Given the description of an element on the screen output the (x, y) to click on. 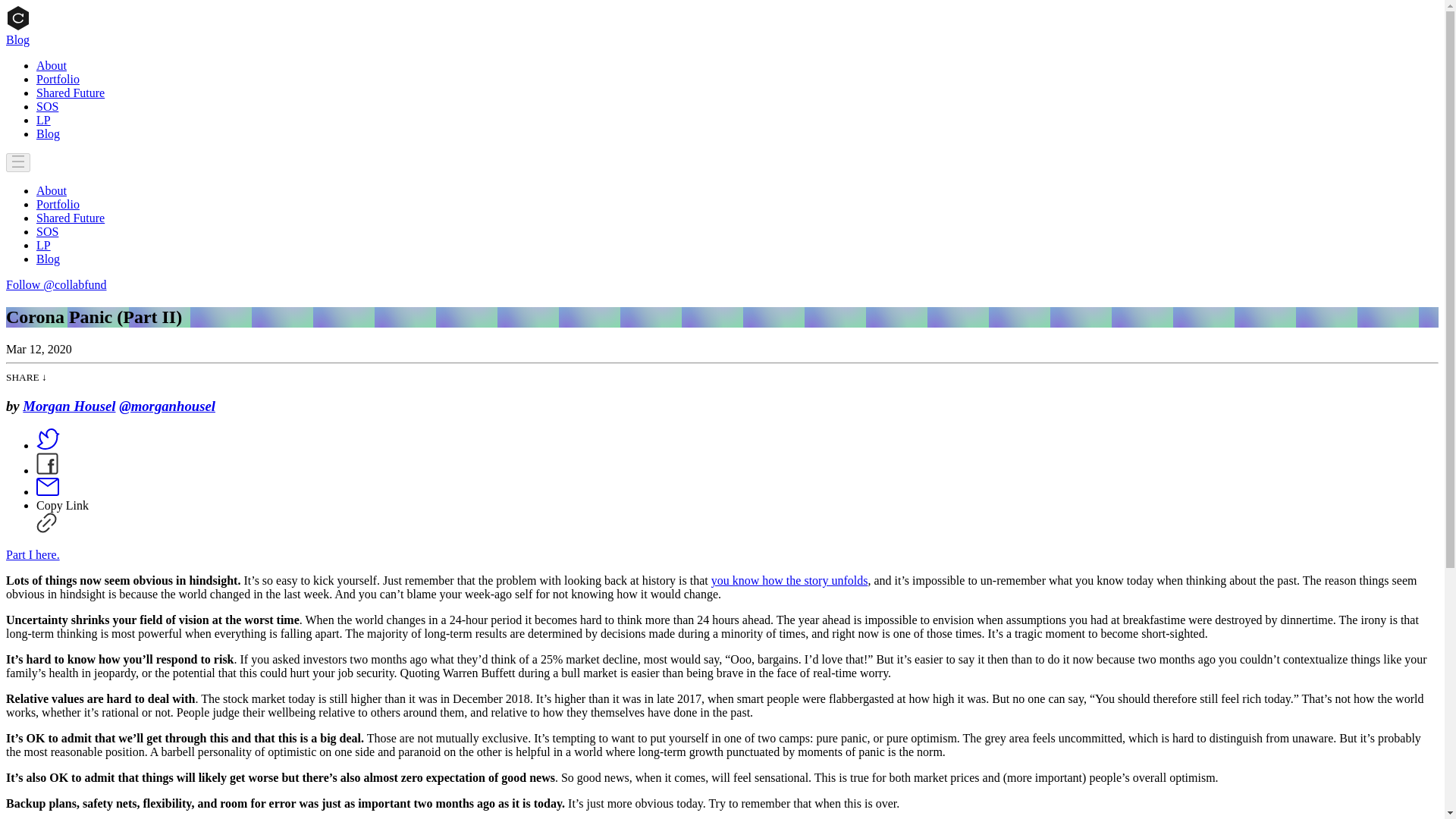
Collab Fund (17, 25)
Shared Future (70, 92)
you know how the story unfolds (789, 580)
Email this article (47, 491)
LP (43, 245)
Part I here. (32, 554)
Morgan Housel (69, 406)
Share on Facebook (47, 470)
About (51, 65)
SOS (47, 106)
Blog (47, 133)
Portfolio (58, 78)
About (51, 190)
Portfolio (58, 204)
Shared Future (70, 217)
